Given the description of an element on the screen output the (x, y) to click on. 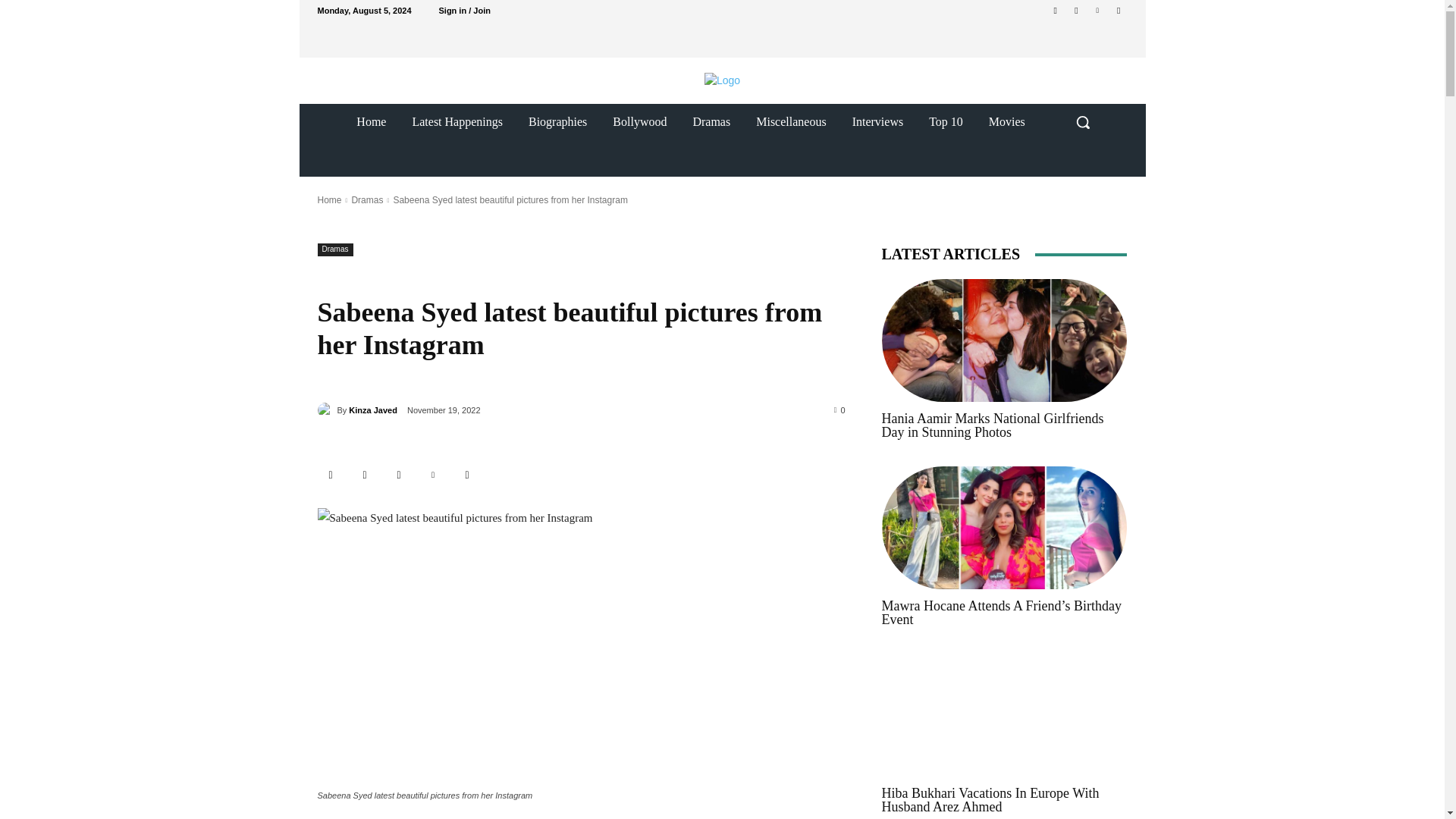
Miscellaneous (790, 122)
Biographies (557, 122)
Dramas (710, 122)
Share (330, 474)
Home (370, 122)
Movies (1006, 122)
View all posts in Dramas (366, 199)
Facebook (365, 474)
Pinterest (1097, 9)
Dramas (334, 249)
Kinza Javed (326, 409)
Youtube (1117, 9)
Bollywood (639, 122)
Kinza Javed (373, 409)
Top 10 (945, 122)
